Given the description of an element on the screen output the (x, y) to click on. 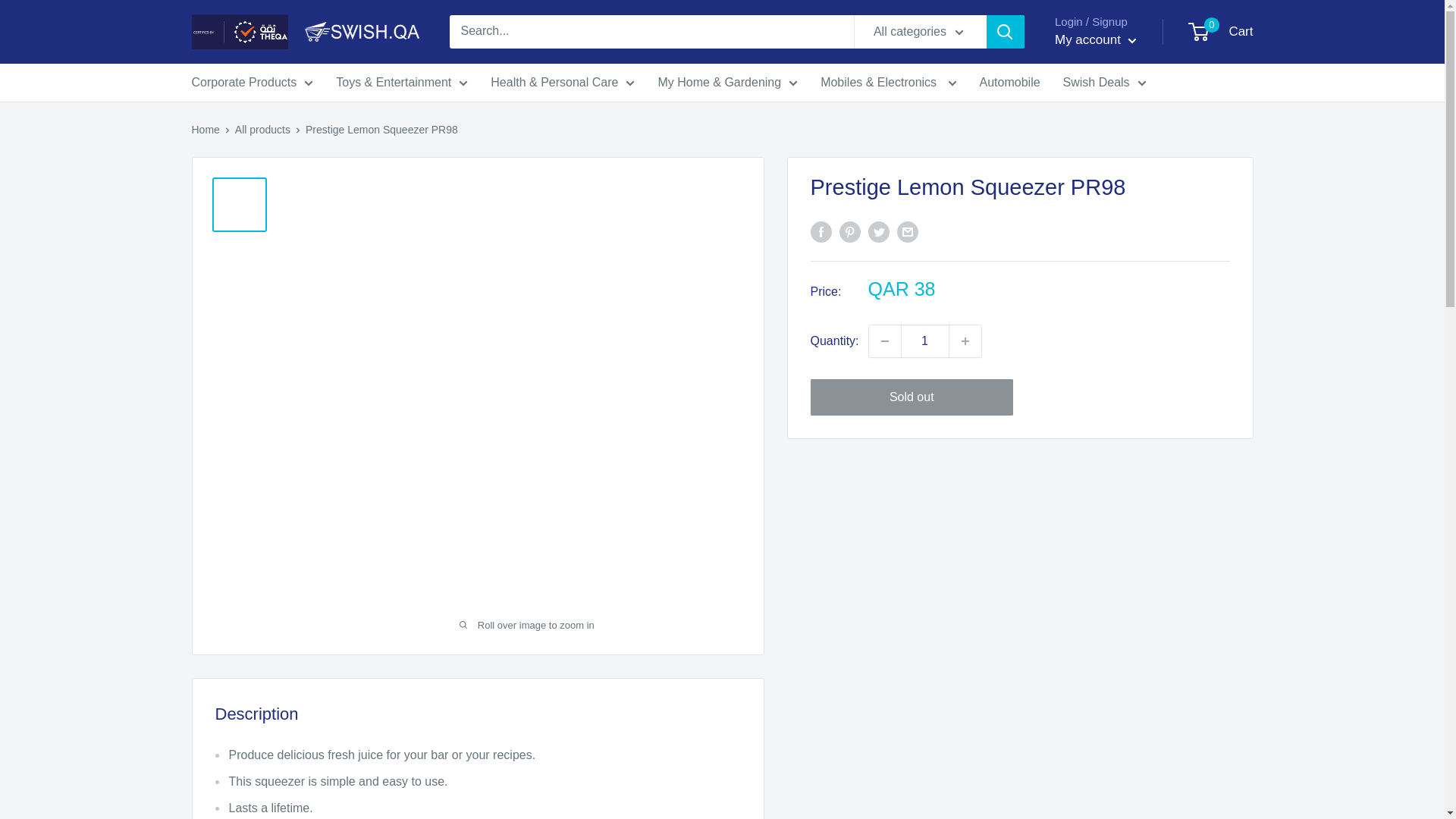
Increase quantity by 1 (965, 341)
Decrease quantity by 1 (885, 341)
1 (925, 341)
